Given the description of an element on the screen output the (x, y) to click on. 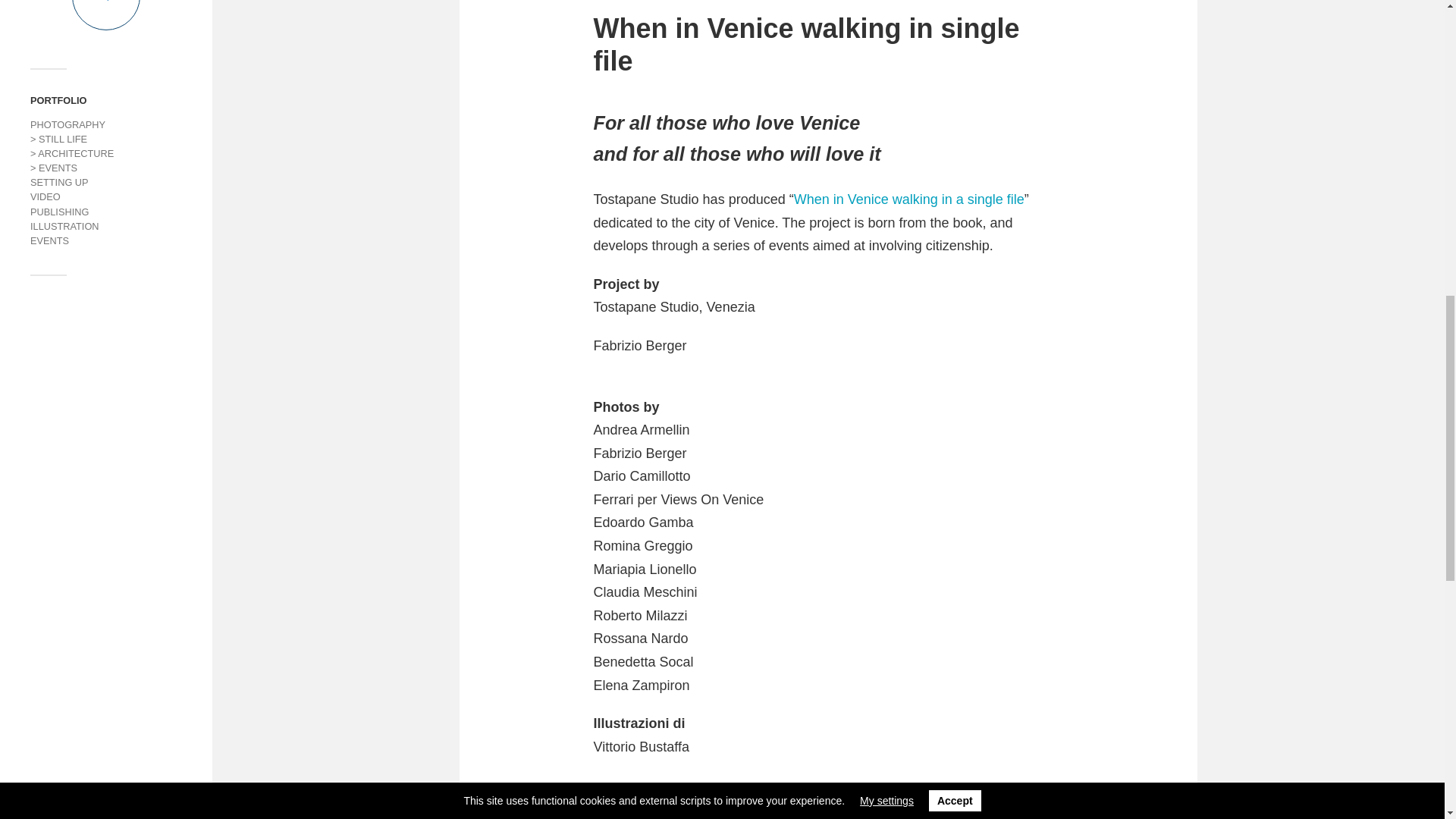
When in Venice walking in a single file (909, 199)
PUBLISHING (59, 211)
SETTING UP (59, 182)
VIDEO (45, 196)
25 November 2019 (641, 811)
EVENTS (49, 240)
PHOTOGRAPHY (67, 124)
ILLUSTRATION (64, 225)
